Given the description of an element on the screen output the (x, y) to click on. 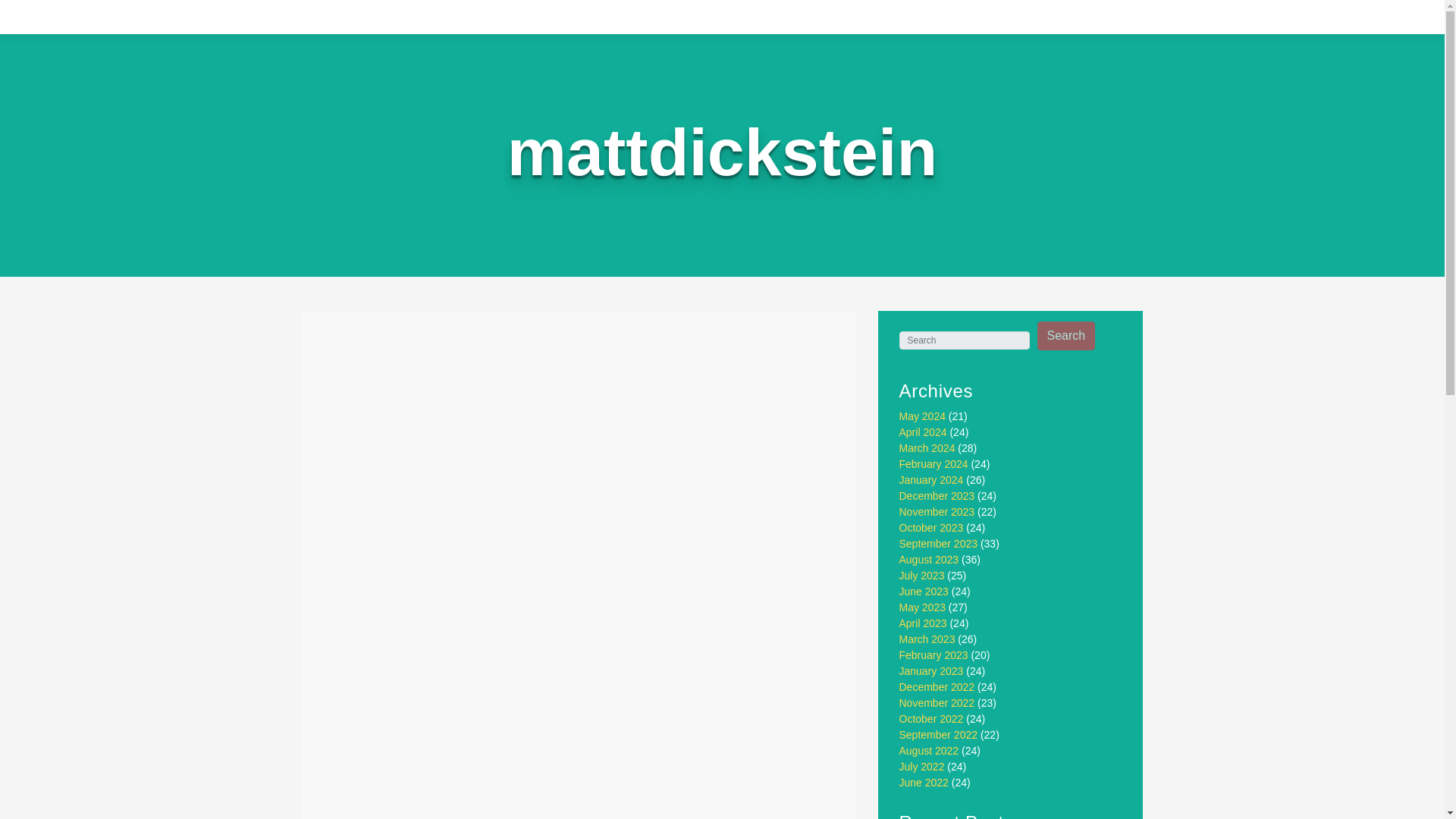
December 2022 (937, 686)
November 2022 (937, 702)
May 2024 (921, 416)
May 2023 (921, 607)
July 2023 (921, 575)
June 2022 (924, 782)
July 28, 2022 (417, 386)
February 2024 (933, 463)
March 2023 (927, 639)
September 2023 (938, 543)
